Given the description of an element on the screen output the (x, y) to click on. 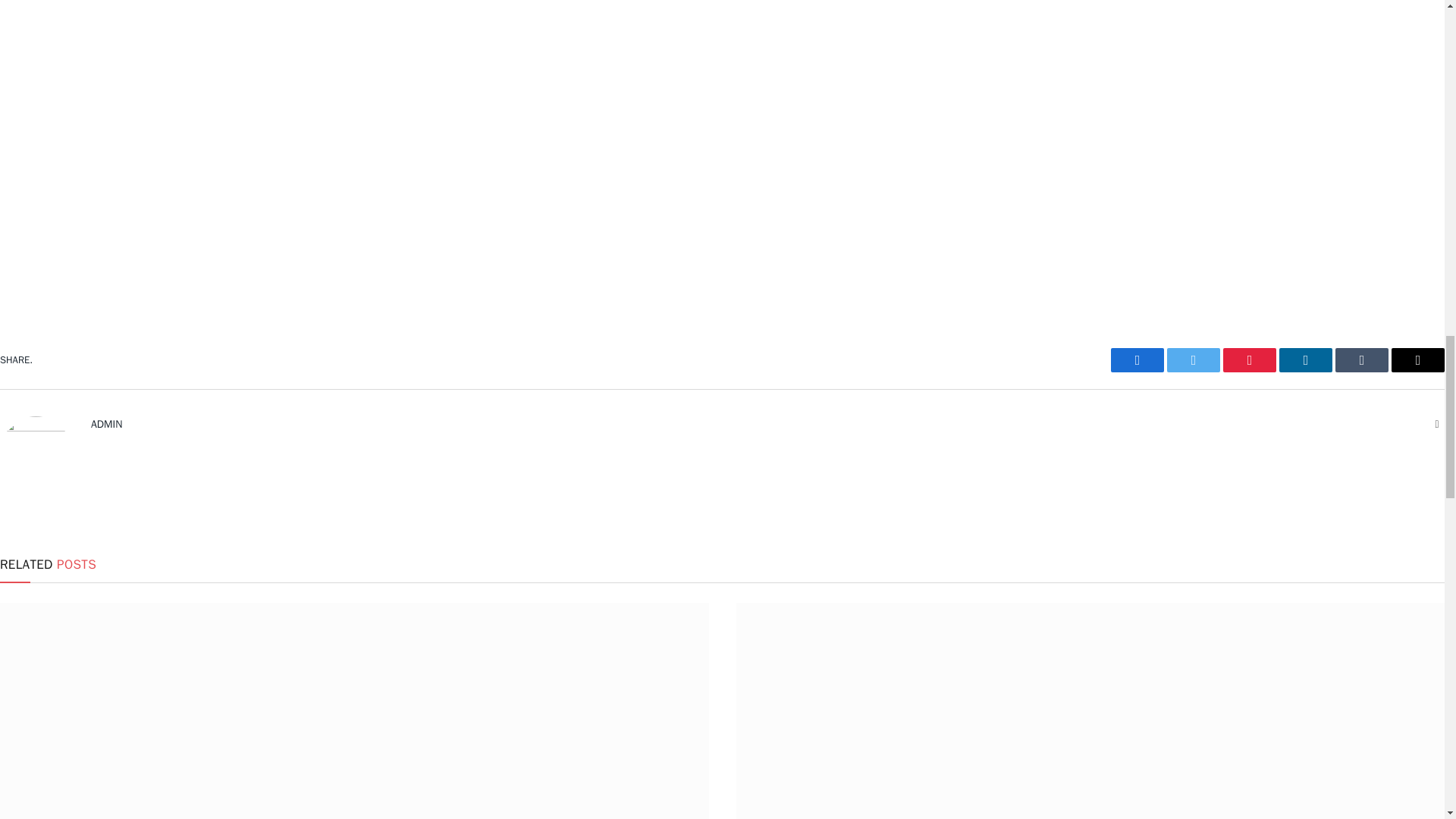
Share on Facebook (1136, 360)
LinkedIn (1305, 360)
Facebook (1136, 360)
Pinterest (1249, 360)
Tumblr (1362, 360)
Twitter (1193, 360)
ADMIN (106, 424)
